Given the description of an element on the screen output the (x, y) to click on. 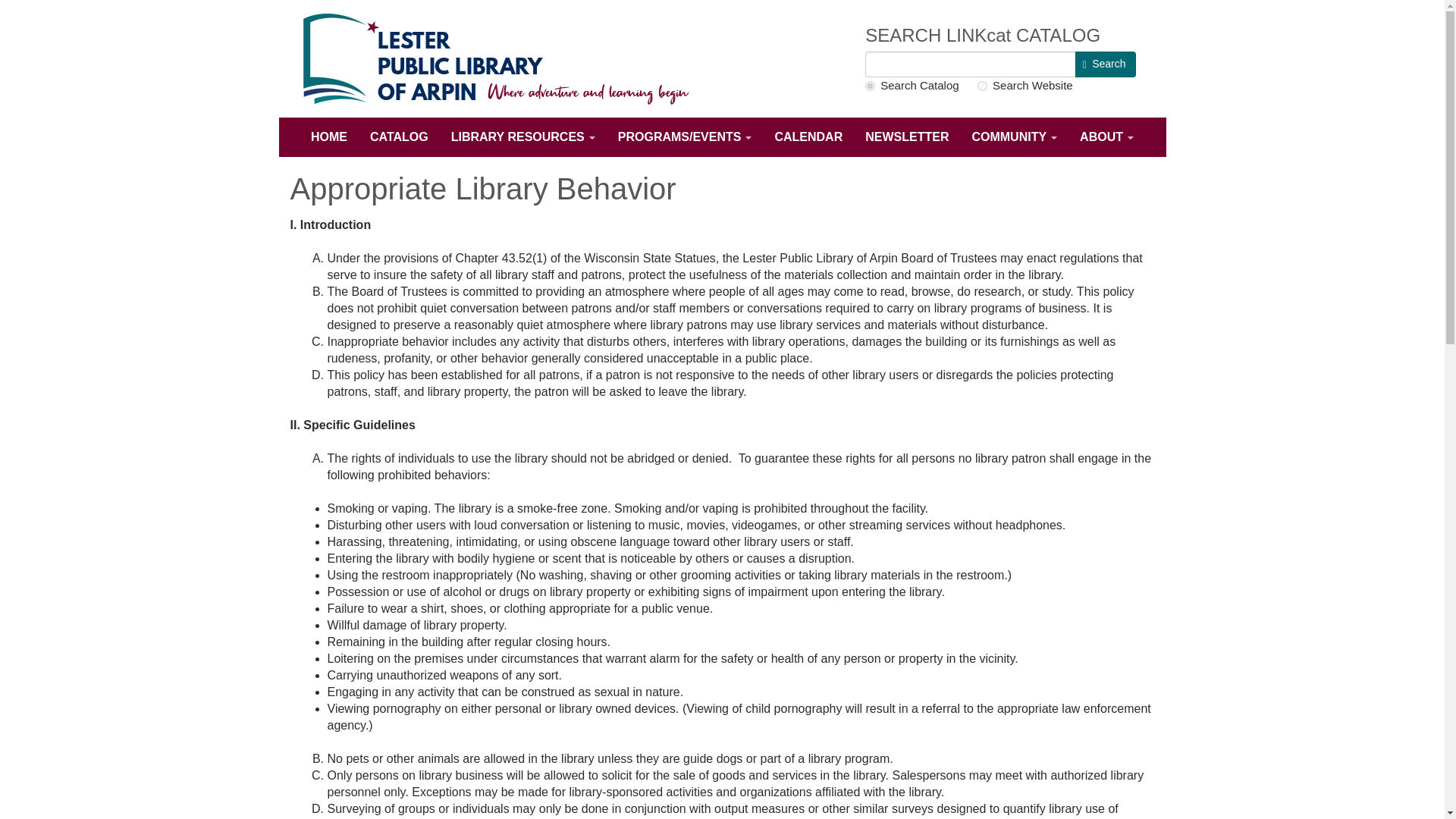
Newsletter Sign Up and Old Issue Archive (906, 136)
LINKcat Catalog (398, 136)
CATALOG (398, 136)
Programs and Events (684, 136)
HOME (328, 136)
CALENDAR (807, 136)
Calendar (807, 136)
About (1106, 136)
Search (1105, 63)
NEWSLETTER (906, 136)
Home (328, 136)
Home (507, 58)
Community Resources (1013, 136)
Library Resources (523, 136)
